Given the description of an element on the screen output the (x, y) to click on. 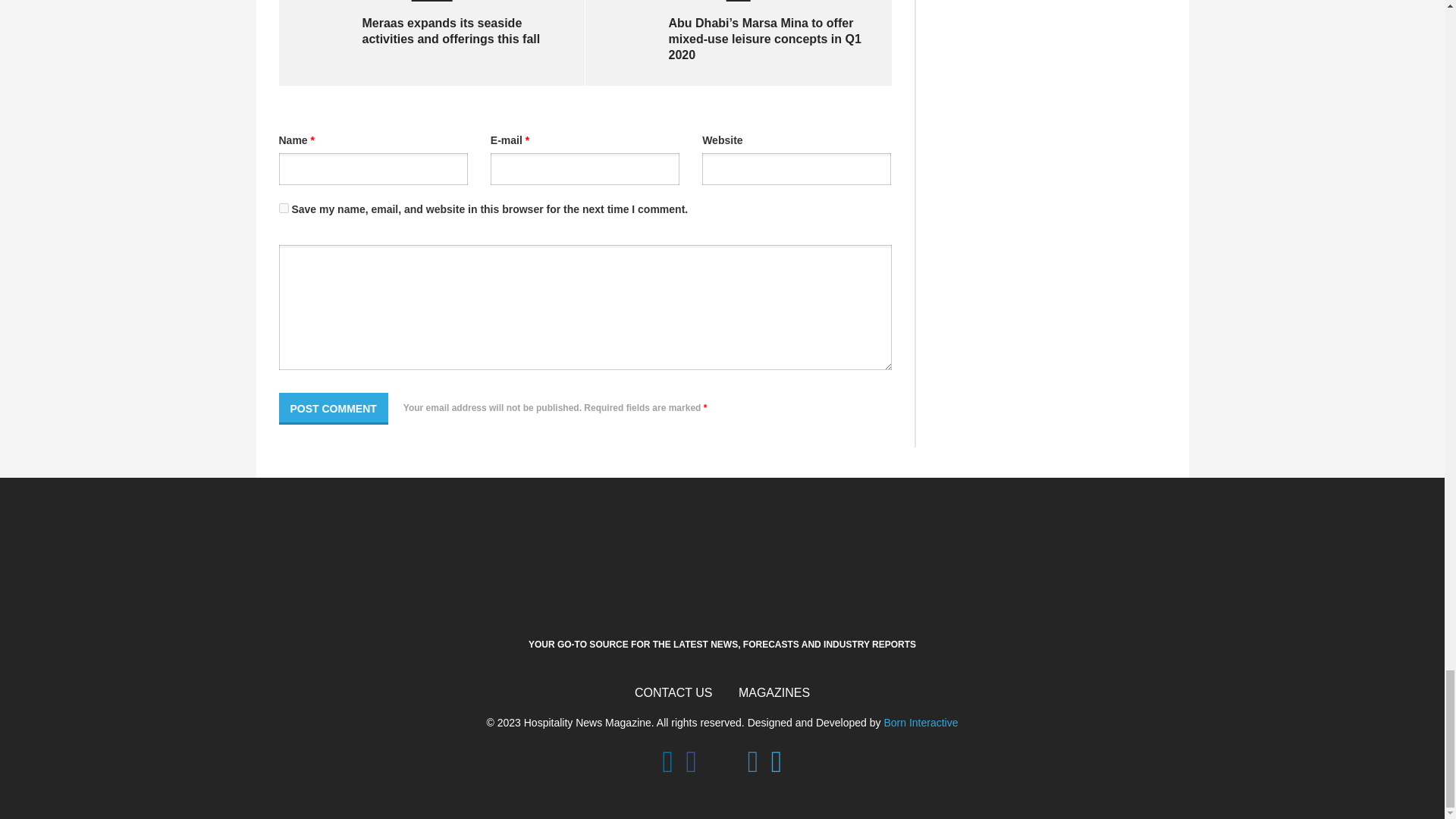
Post comment (333, 409)
yes (283, 207)
